Given the description of an element on the screen output the (x, y) to click on. 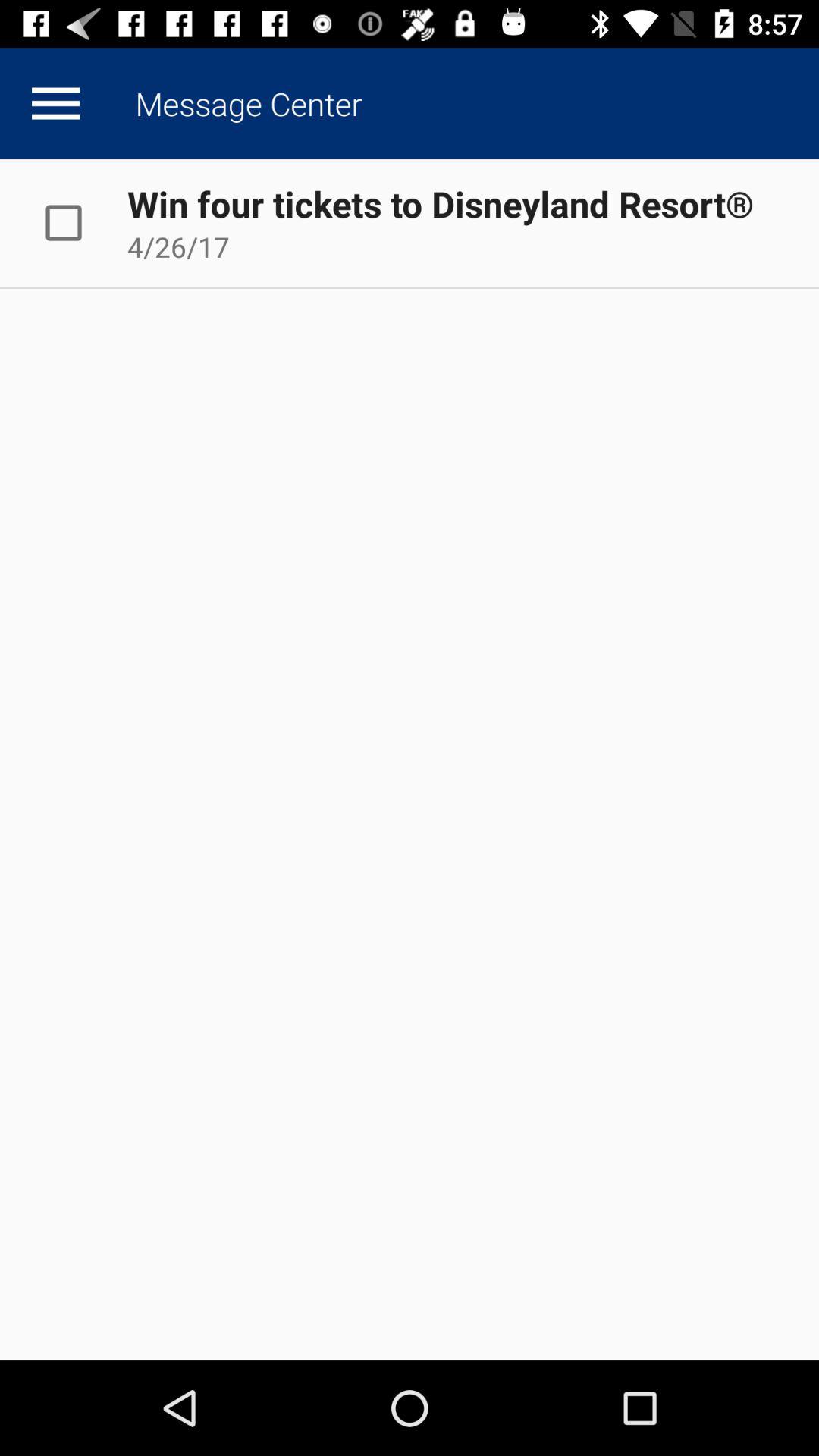
select item to the left of win four tickets (79, 222)
